Given the description of an element on the screen output the (x, y) to click on. 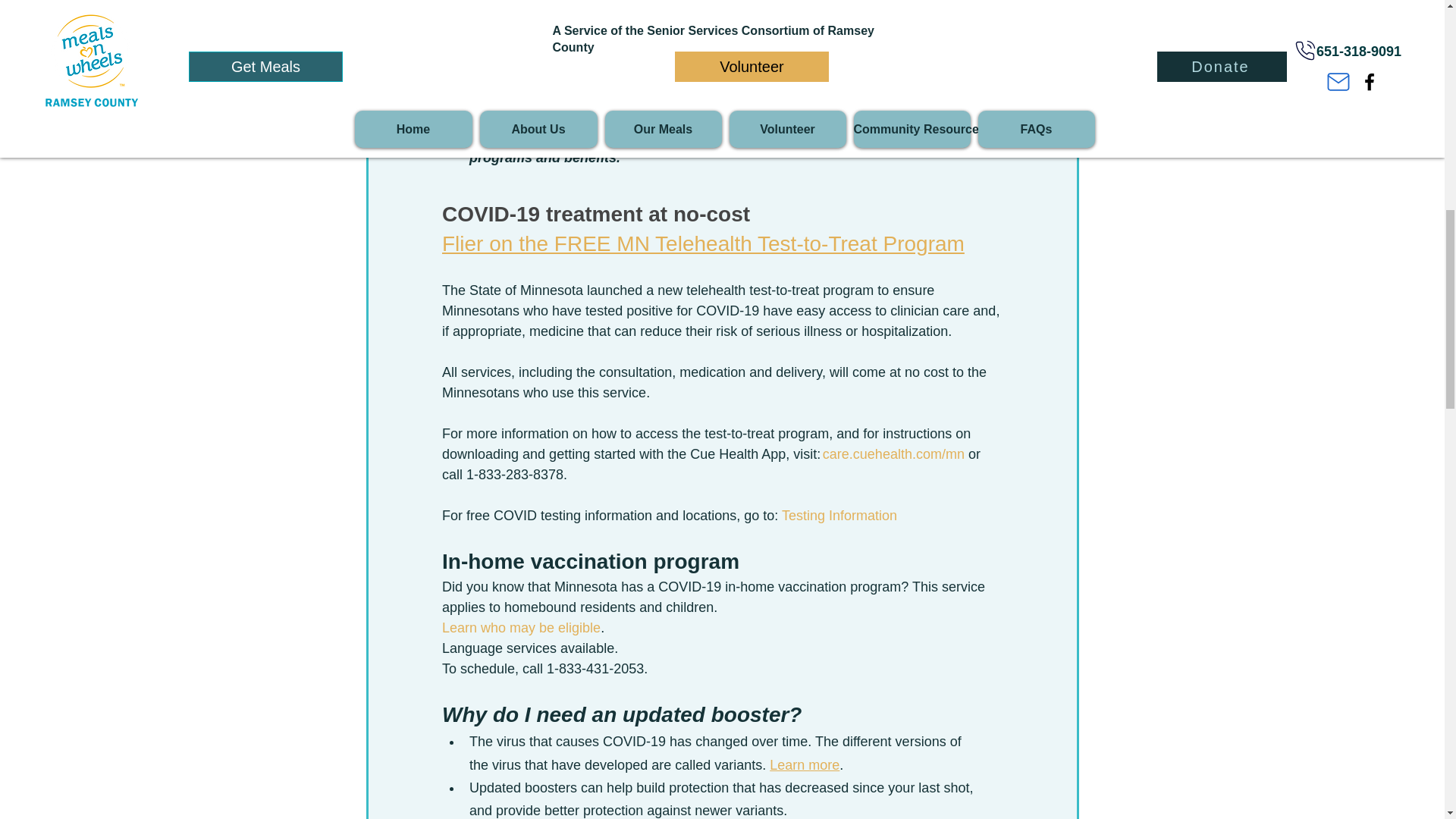
Learn who may be eligible (520, 627)
Flier on the FREE MN Telehealth Test-to-Treat Program (702, 243)
Learn more (805, 764)
Testing Information (838, 515)
